Given the description of an element on the screen output the (x, y) to click on. 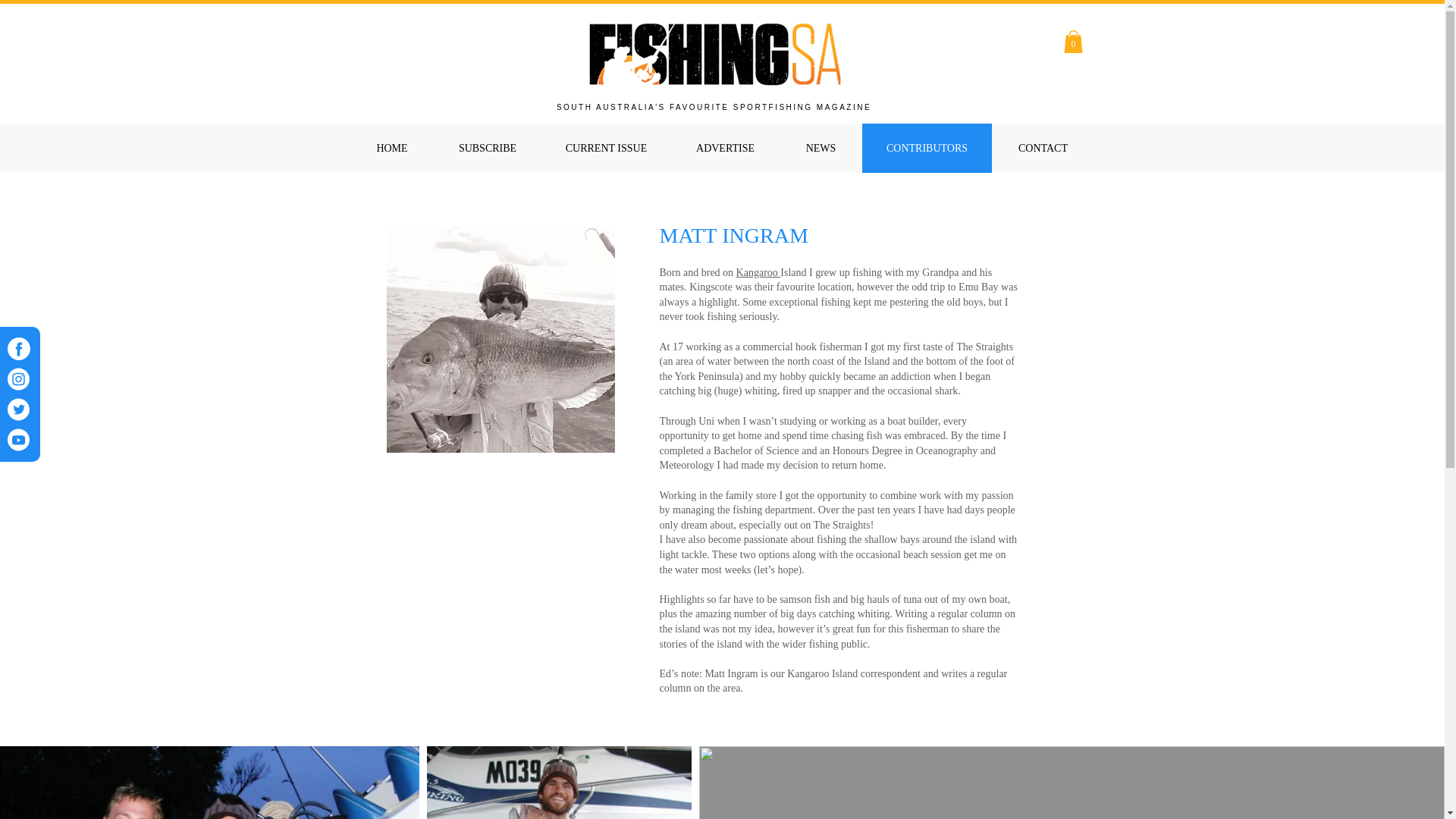
CONTRIBUTORS (926, 147)
NEWS (819, 147)
CONTACT (1042, 147)
ADVERTISE (723, 147)
HOME (391, 147)
CURRENT ISSUE (606, 147)
Kangaroo  (758, 272)
SUBSCRIBE (487, 147)
